Given the description of an element on the screen output the (x, y) to click on. 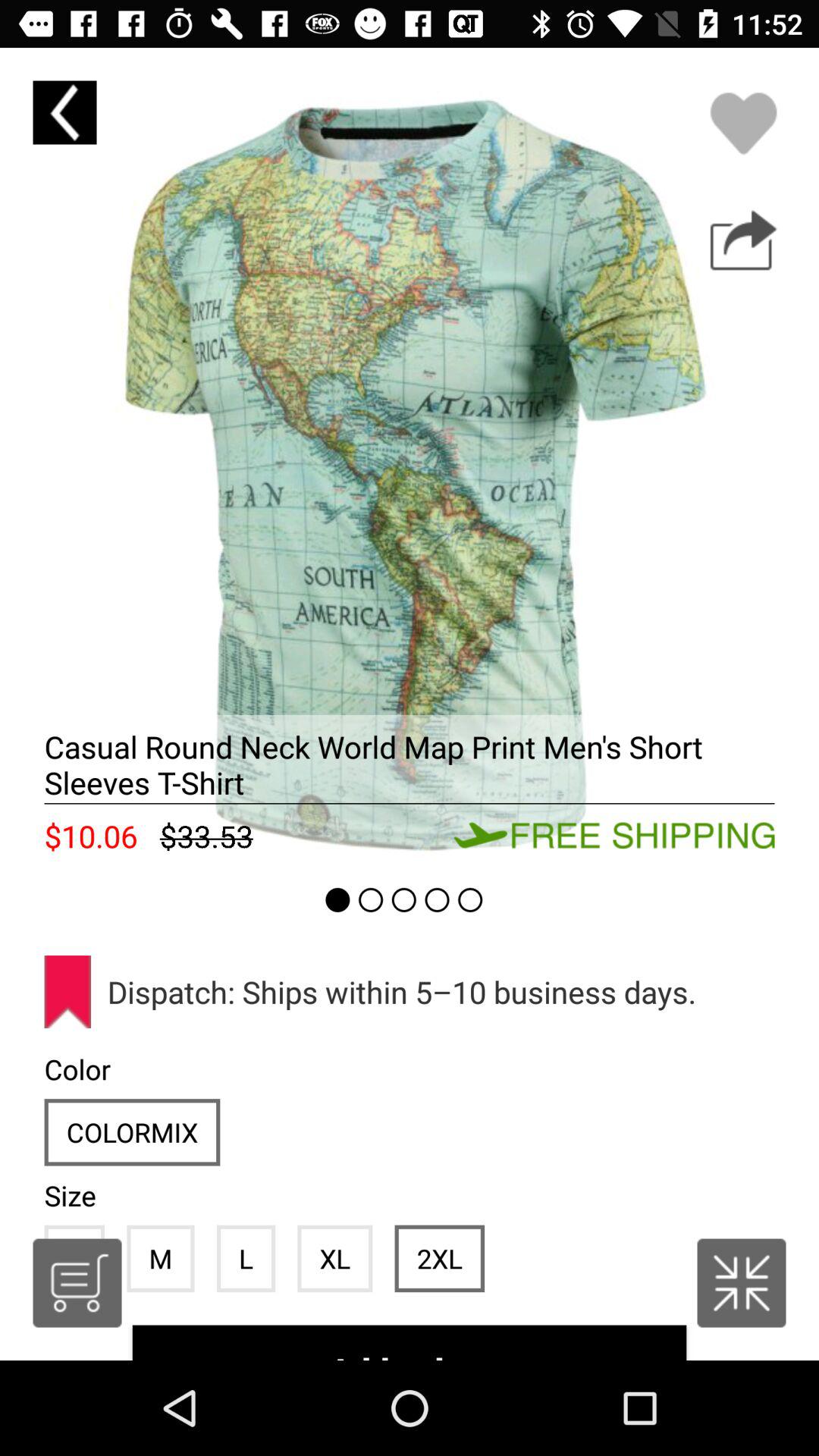
buy the product (743, 240)
